Given the description of an element on the screen output the (x, y) to click on. 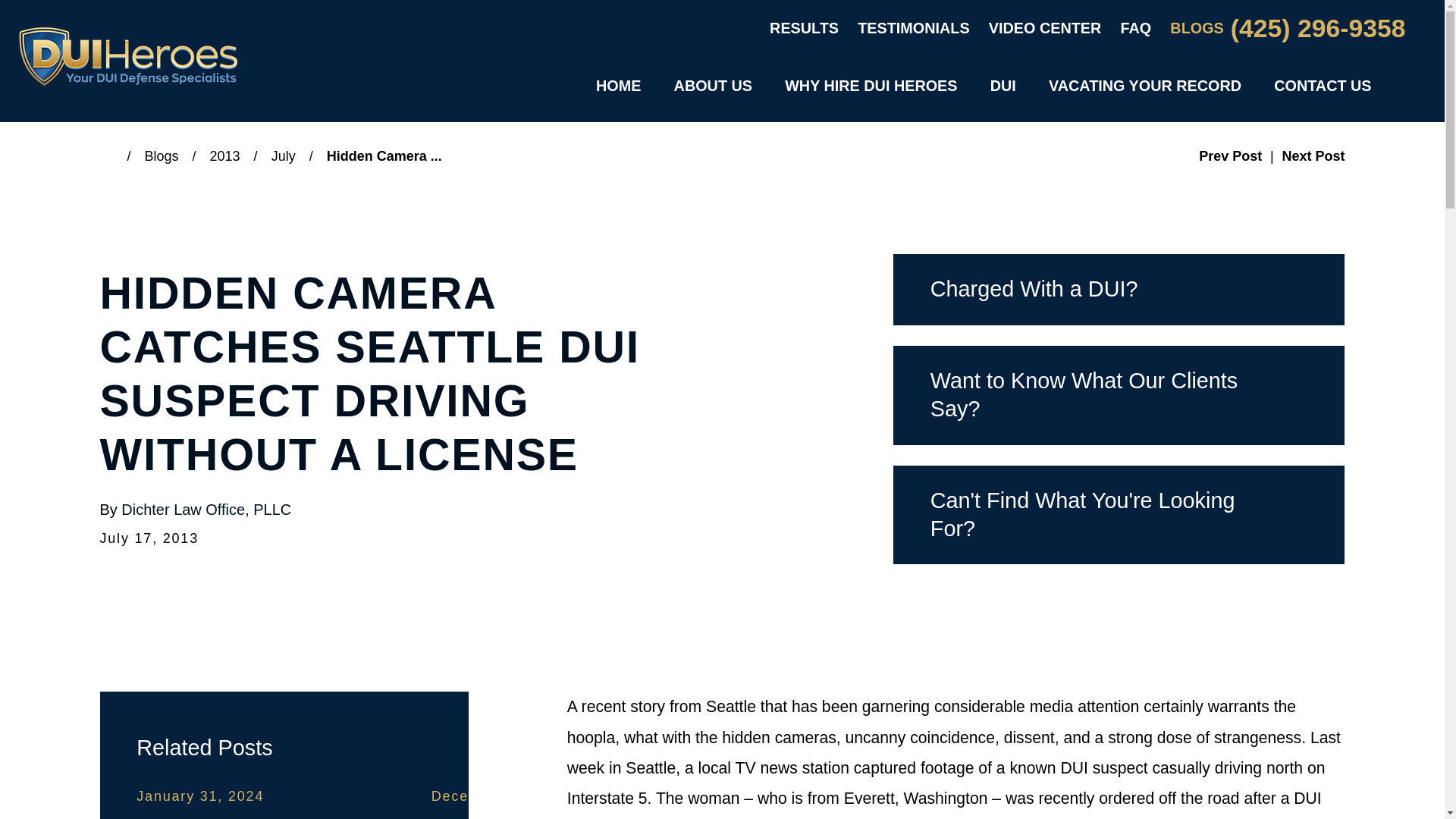
TESTIMONIALS (913, 27)
VIDEO CENTER (1045, 27)
BLOGS (1196, 27)
RESULTS (804, 27)
Open the accessibility options menu (31, 786)
DUIHeroes (127, 56)
WHY HIRE DUI HEROES (870, 86)
HOME (617, 86)
Go Home (114, 155)
ABOUT US (713, 86)
